Given the description of an element on the screen output the (x, y) to click on. 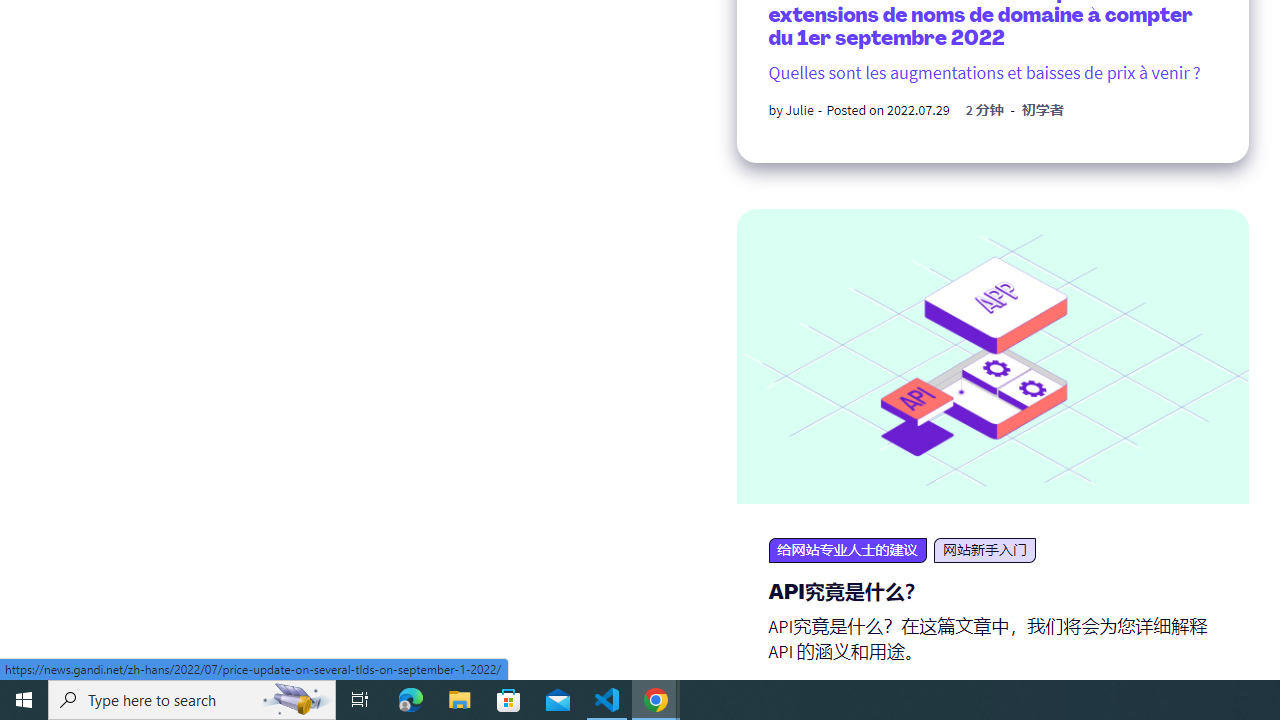
Julie (799, 110)
